Given the description of an element on the screen output the (x, y) to click on. 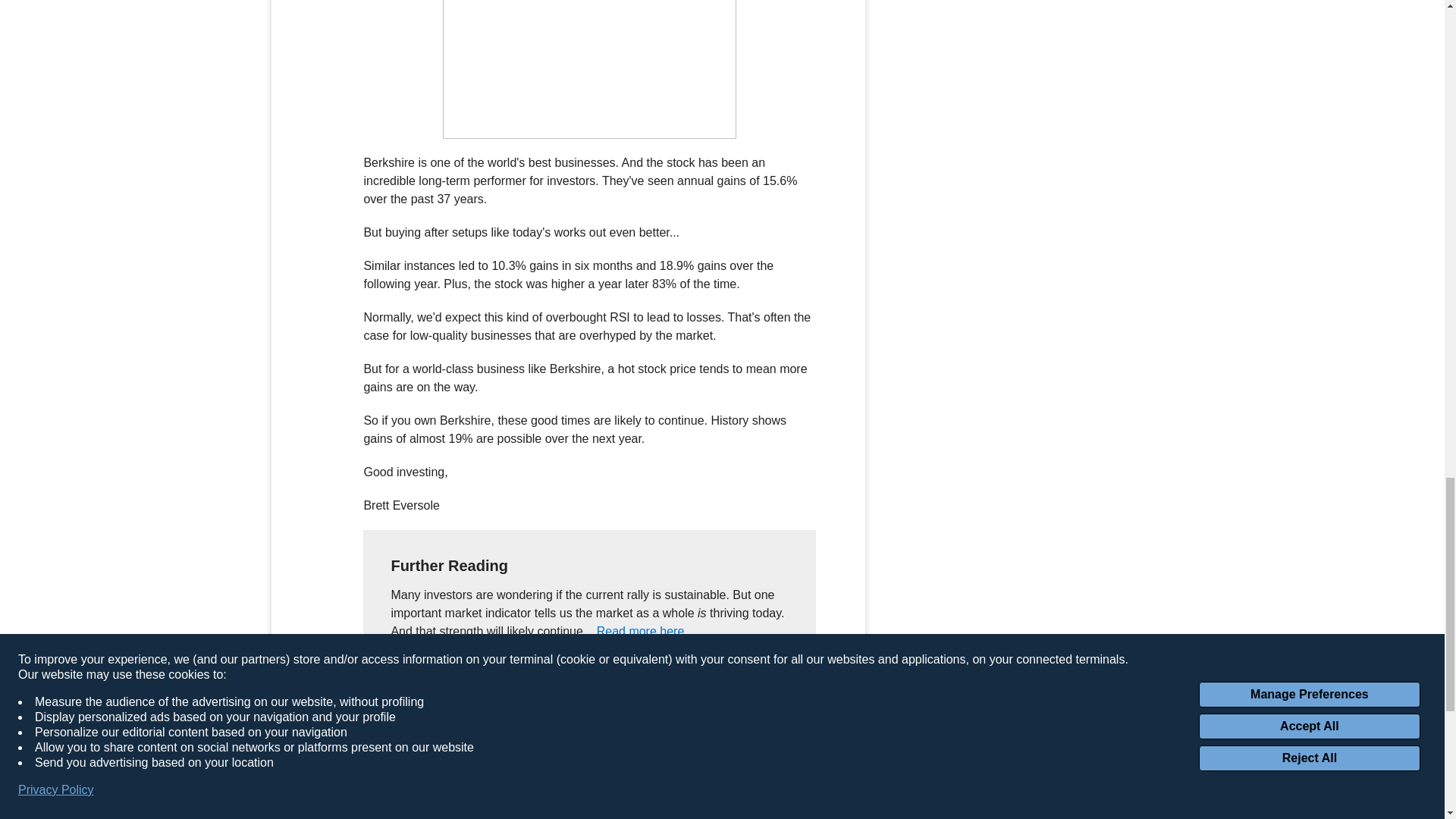
Learn more here (473, 718)
Read more here (640, 631)
